Given the description of an element on the screen output the (x, y) to click on. 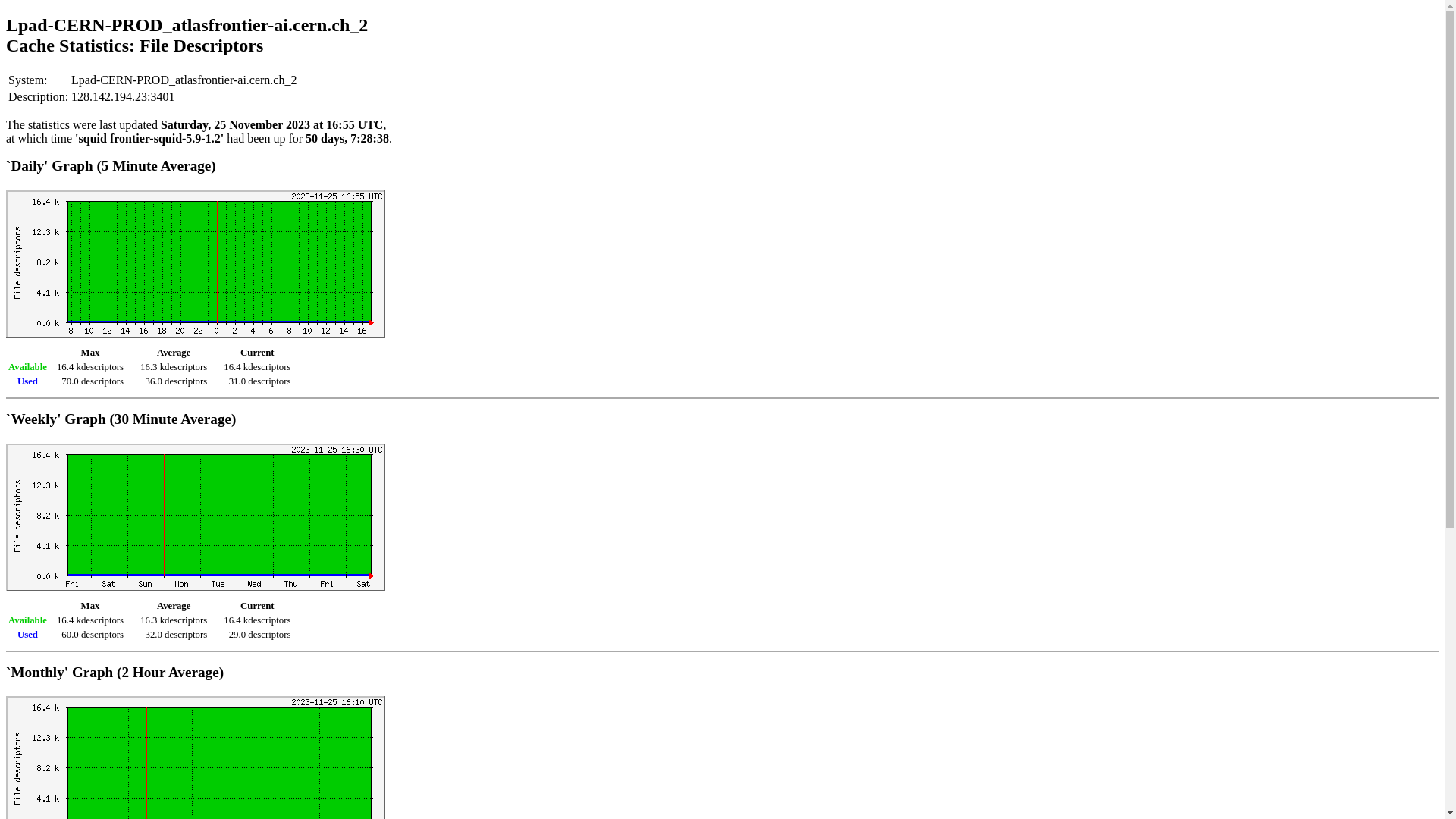
week Element type: hover (195, 517)
day Element type: hover (195, 264)
